Given the description of an element on the screen output the (x, y) to click on. 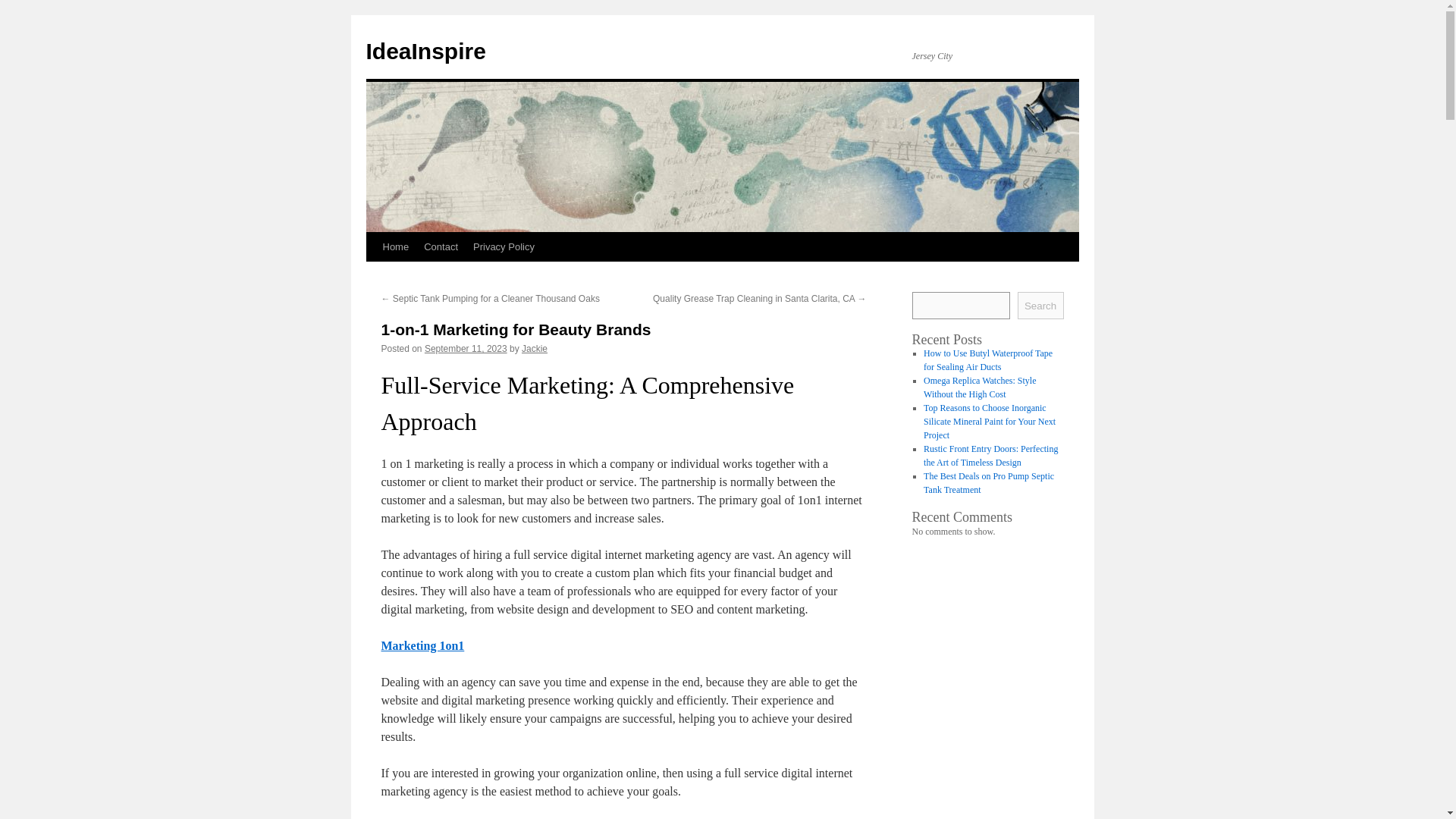
Omega Replica Watches: Style Without the High Cost (979, 387)
Home (395, 246)
9:02 am (465, 348)
The Best Deals on Pro Pump Septic Tank Treatment (988, 482)
Contact (440, 246)
IdeaInspire (424, 50)
September 11, 2023 (465, 348)
How to Use Butyl Waterproof Tape for Sealing Air Ducts (987, 360)
